Given the description of an element on the screen output the (x, y) to click on. 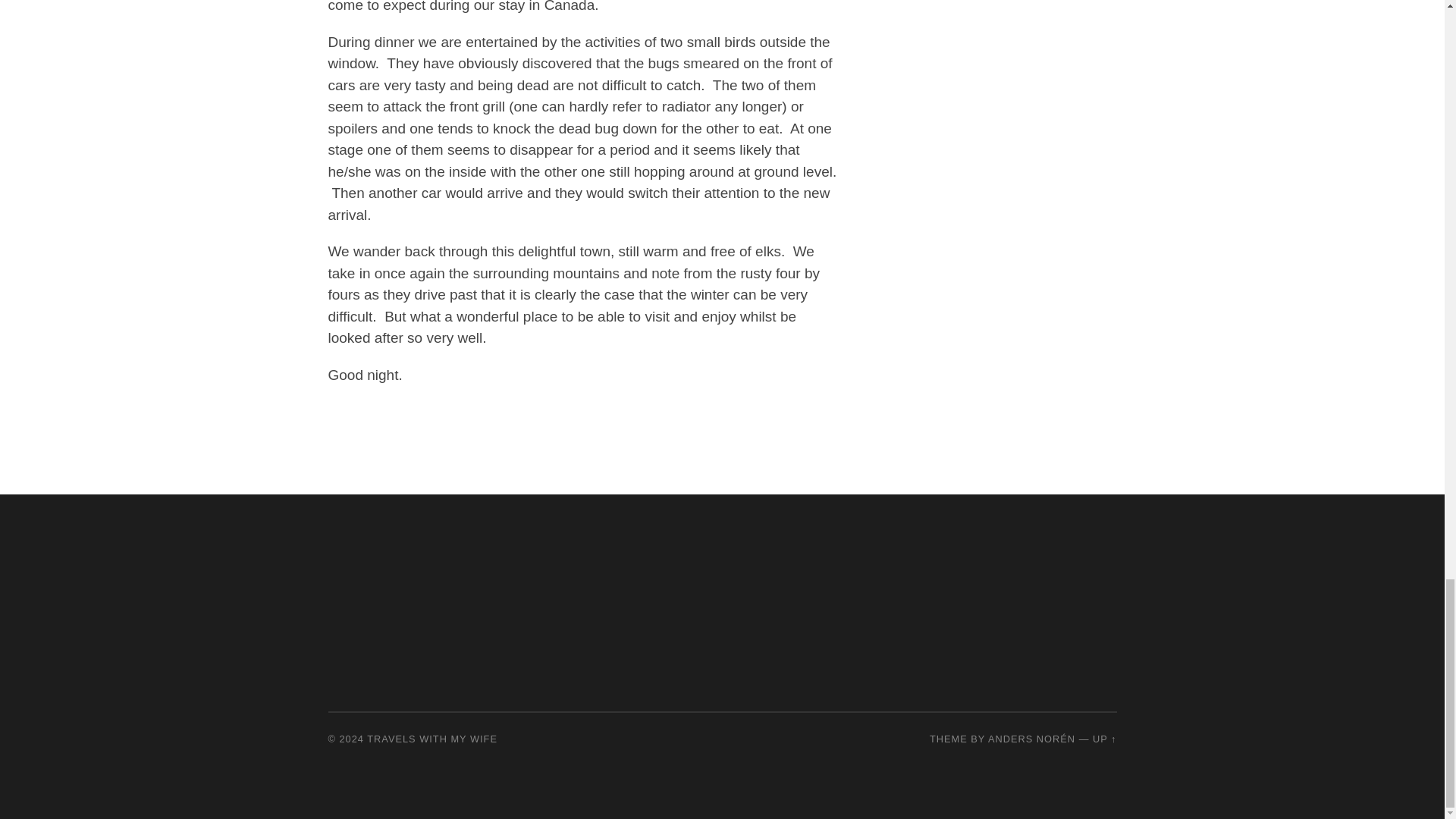
To the top (1104, 738)
